Given the description of an element on the screen output the (x, y) to click on. 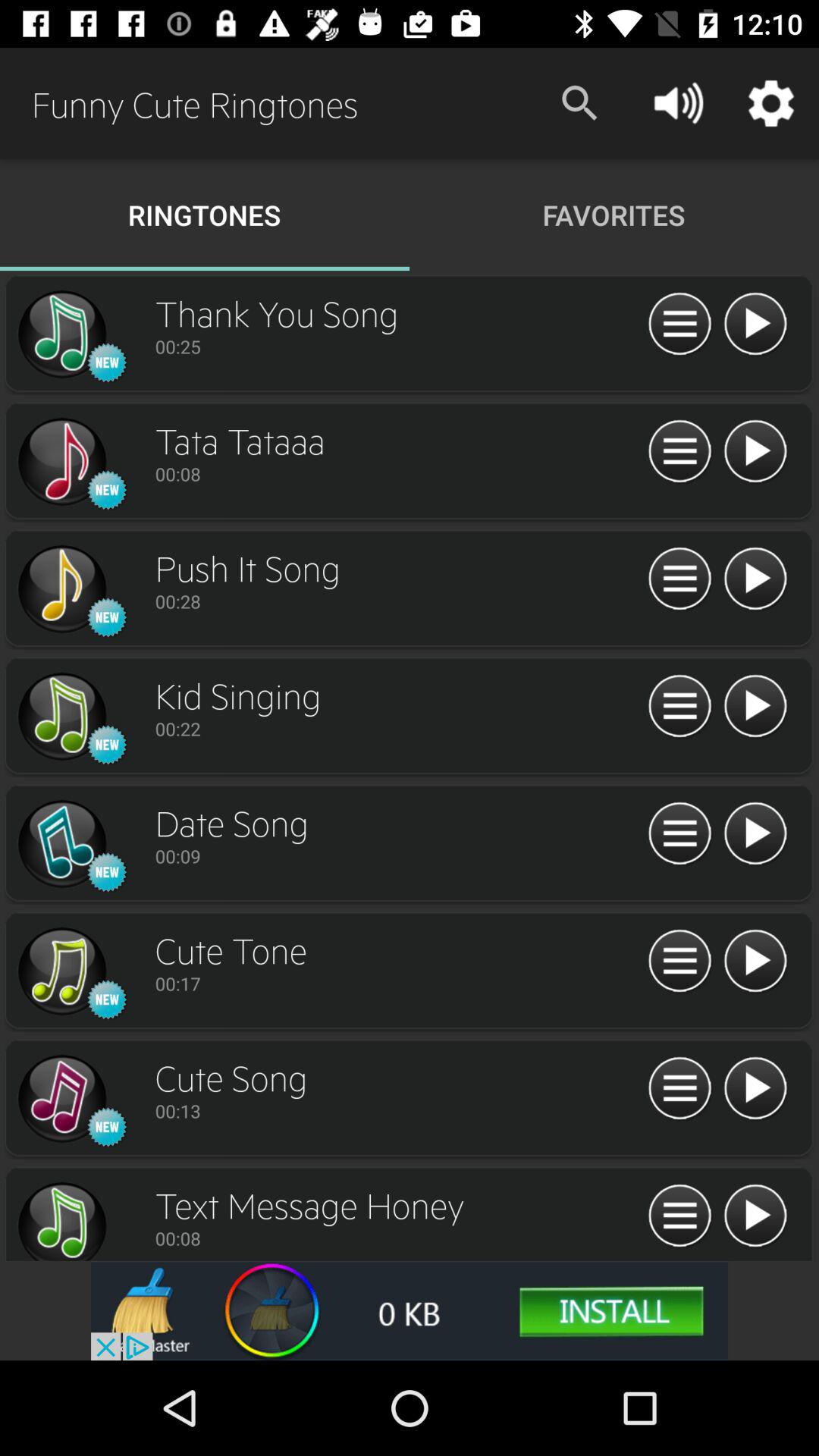
press play (755, 834)
